Given the description of an element on the screen output the (x, y) to click on. 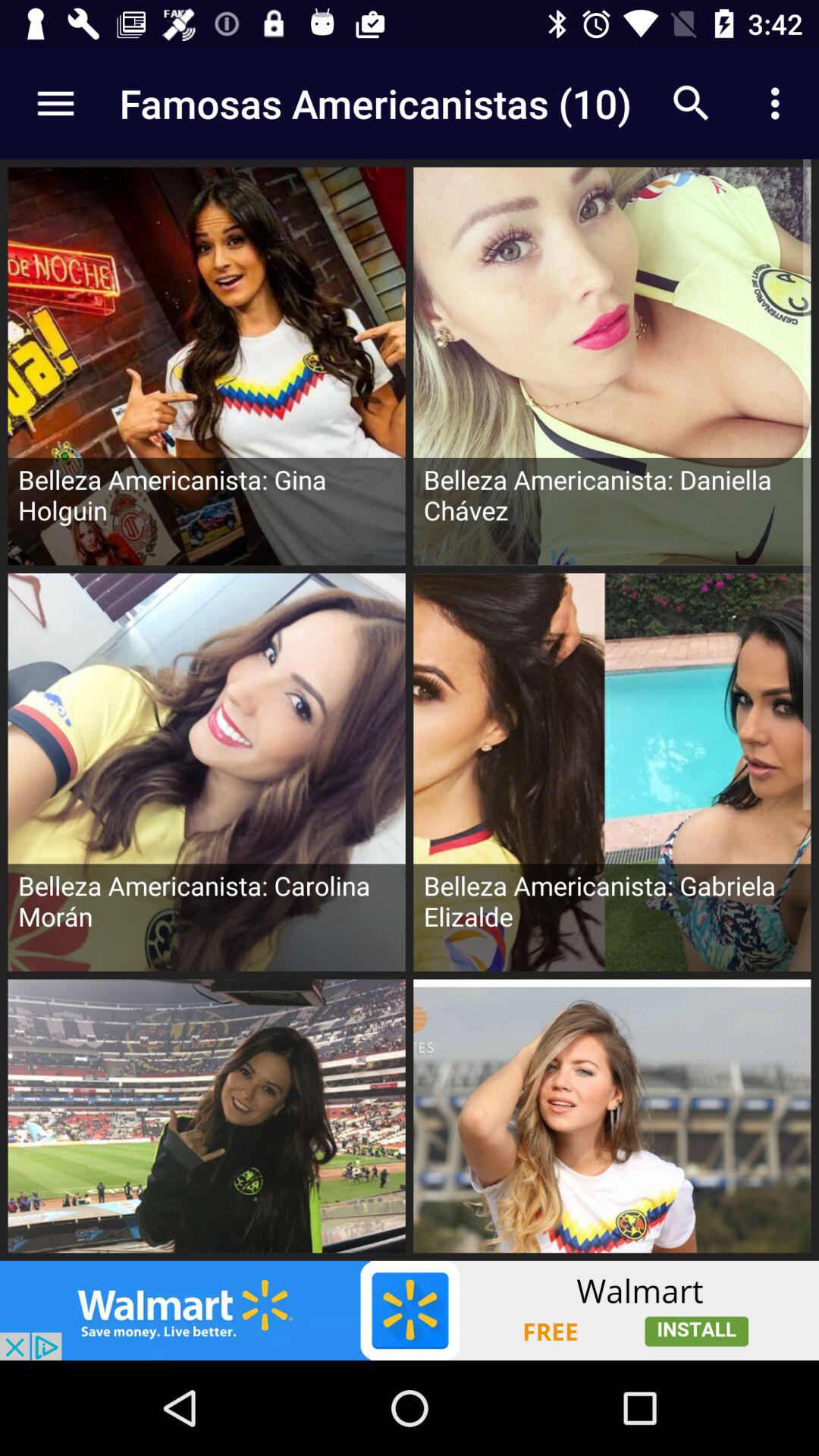
advertising area (409, 1310)
